Given the description of an element on the screen output the (x, y) to click on. 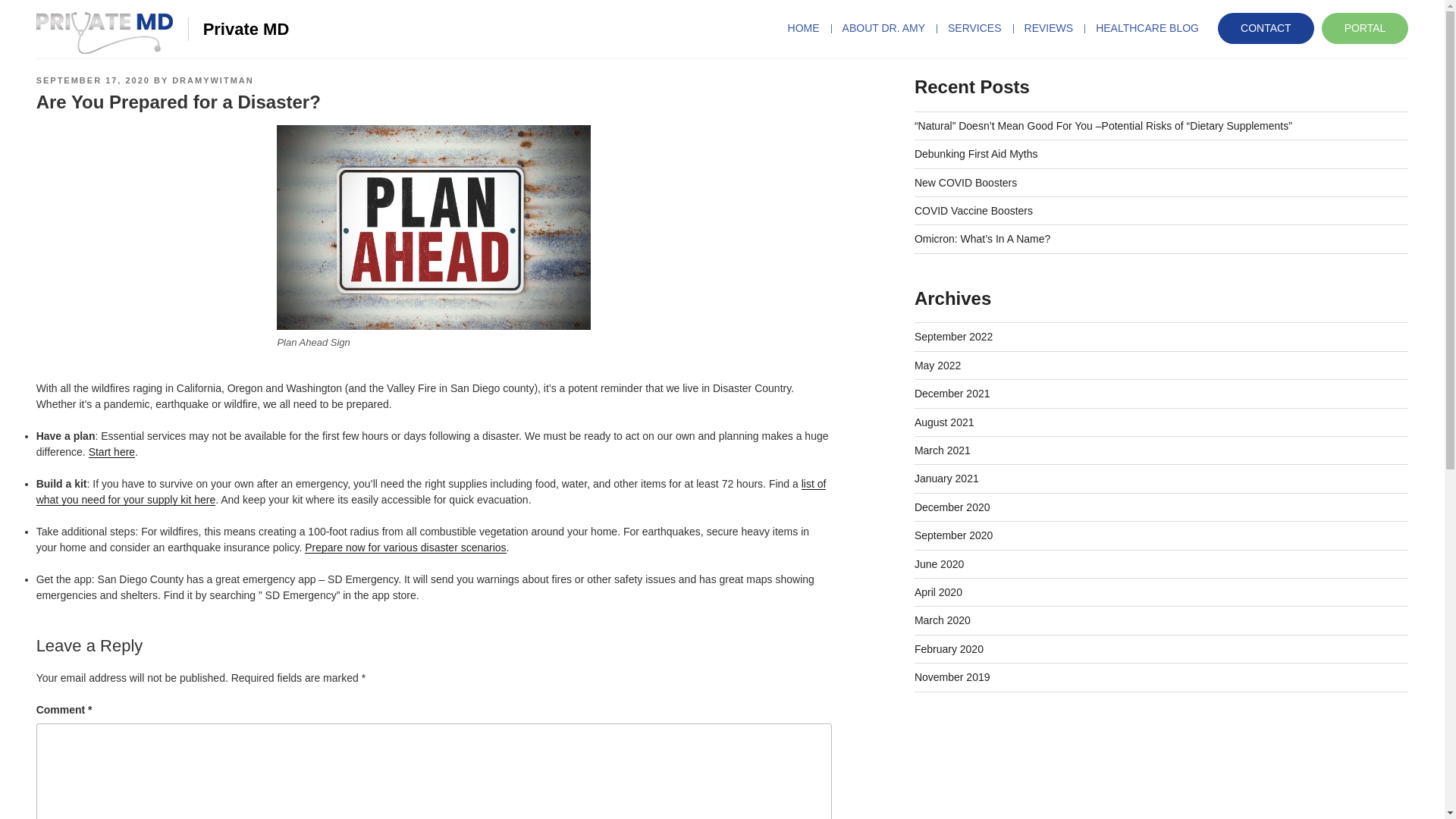
COVID Vaccine Boosters (973, 210)
February 2020 (949, 648)
April 2020 (938, 592)
SERVICES (974, 28)
March 2020 (942, 620)
PORTAL (1365, 28)
HEALTHCARE BLOG (1146, 28)
December 2020 (952, 507)
May 2022 (937, 365)
November 2019 (952, 676)
